Given the description of an element on the screen output the (x, y) to click on. 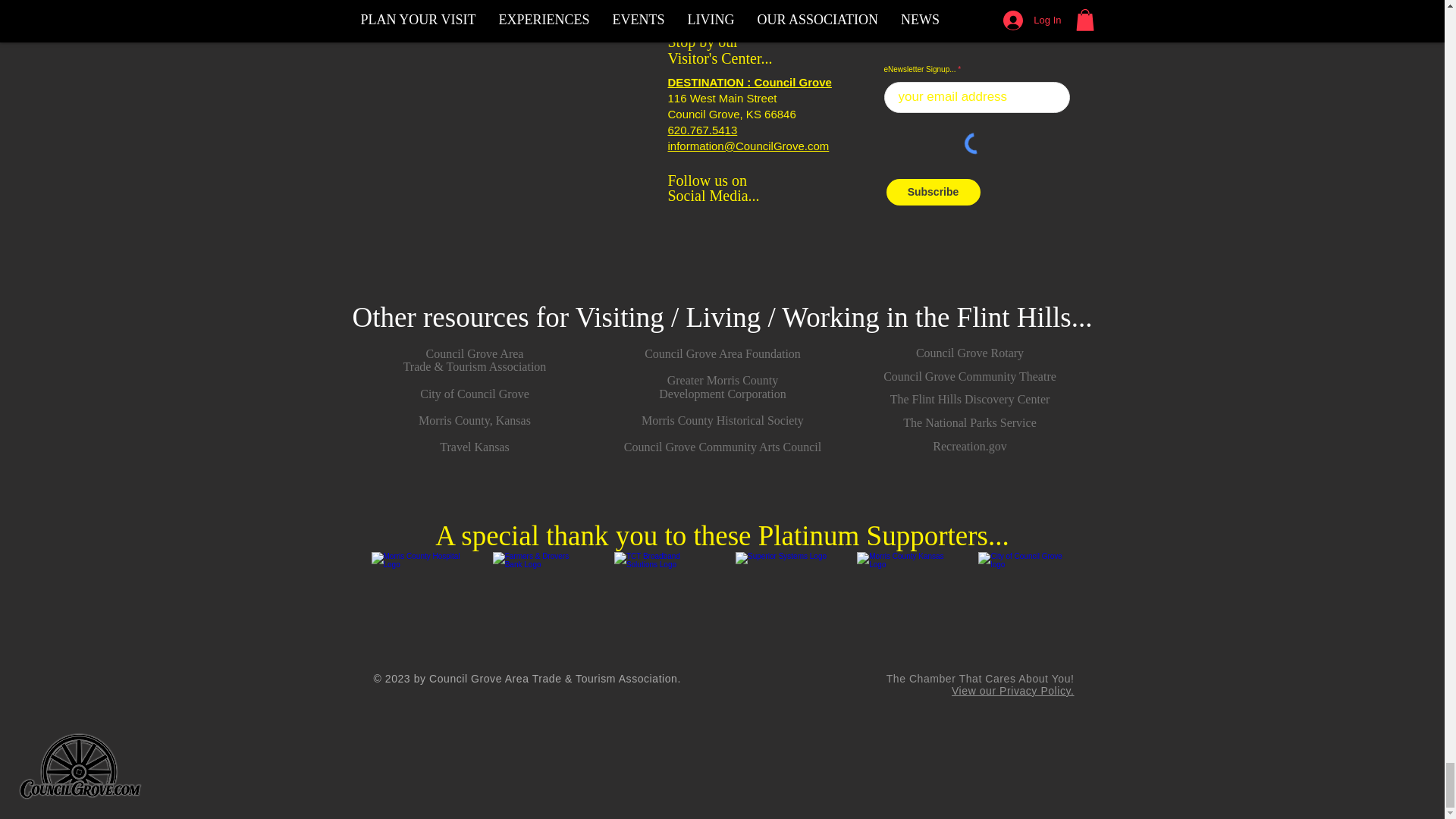
Logo-MCH-Trace.png (419, 599)
Logo-MCH-Trace.png (904, 599)
Logo-MCH-Trace.png (540, 599)
Logo-MCH-Trace.png (783, 599)
Logo-MCH-Trace.png (662, 599)
Logo-Tourism-Experience-MainStreet-Rever (493, 117)
Logo-MCH-Trace.png (1026, 599)
